Given the description of an element on the screen output the (x, y) to click on. 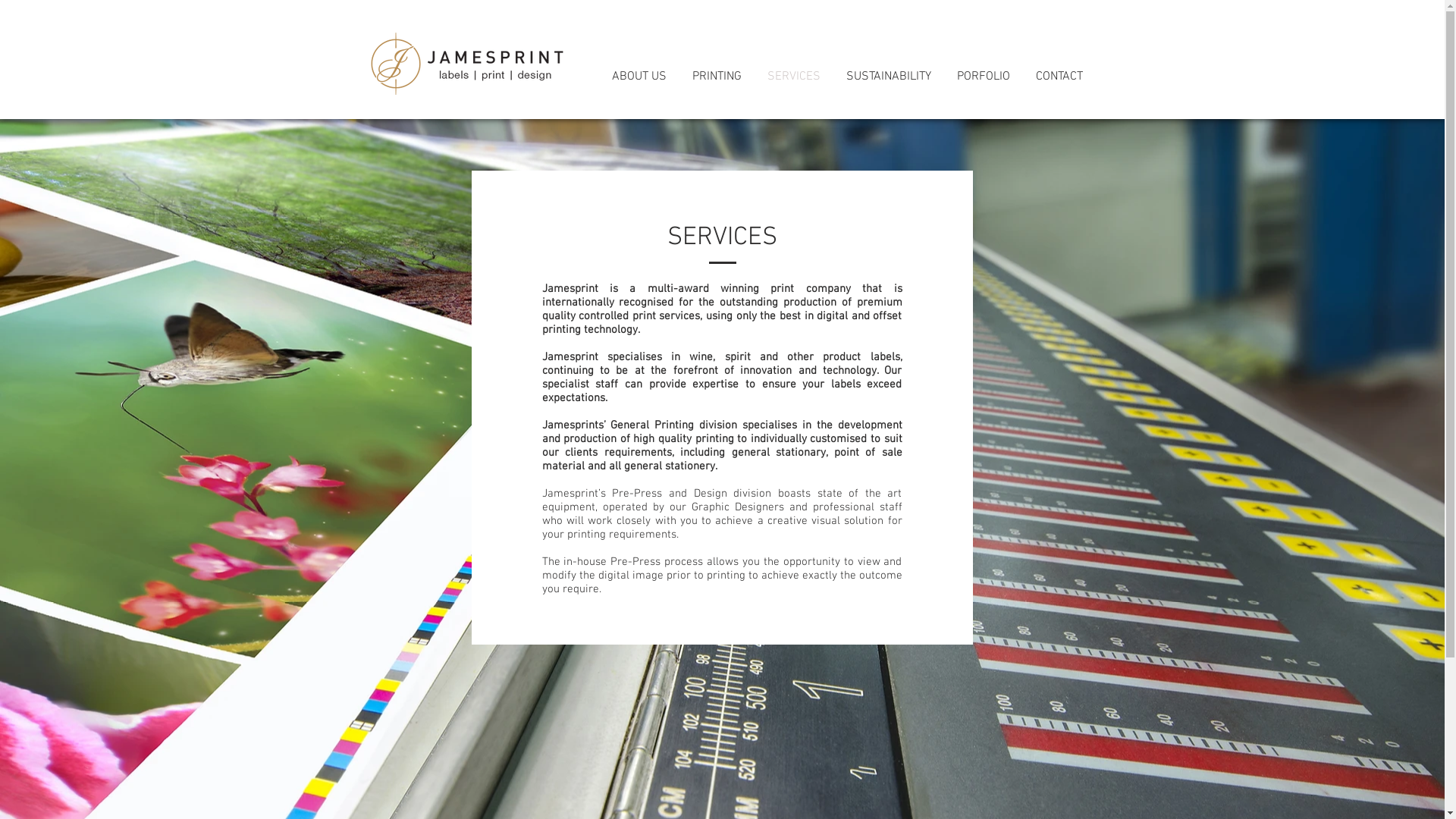
CONTACT Element type: text (1056, 75)
SERVICES Element type: text (791, 75)
SUSTAINABILITY Element type: text (886, 75)
PORFOLIO Element type: text (980, 75)
ABOUT US Element type: text (636, 75)
